Given the description of an element on the screen output the (x, y) to click on. 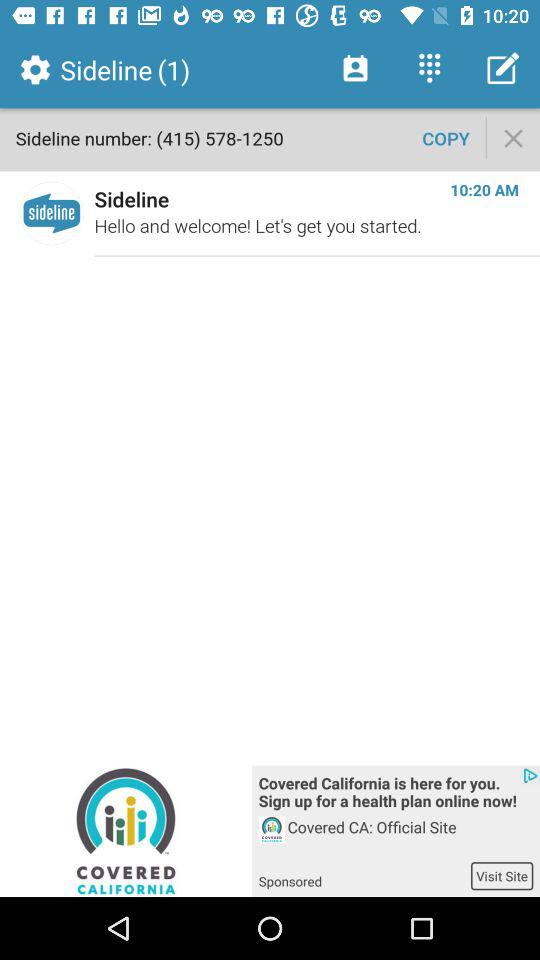
turn off the icon below covered california is icon (410, 838)
